Given the description of an element on the screen output the (x, y) to click on. 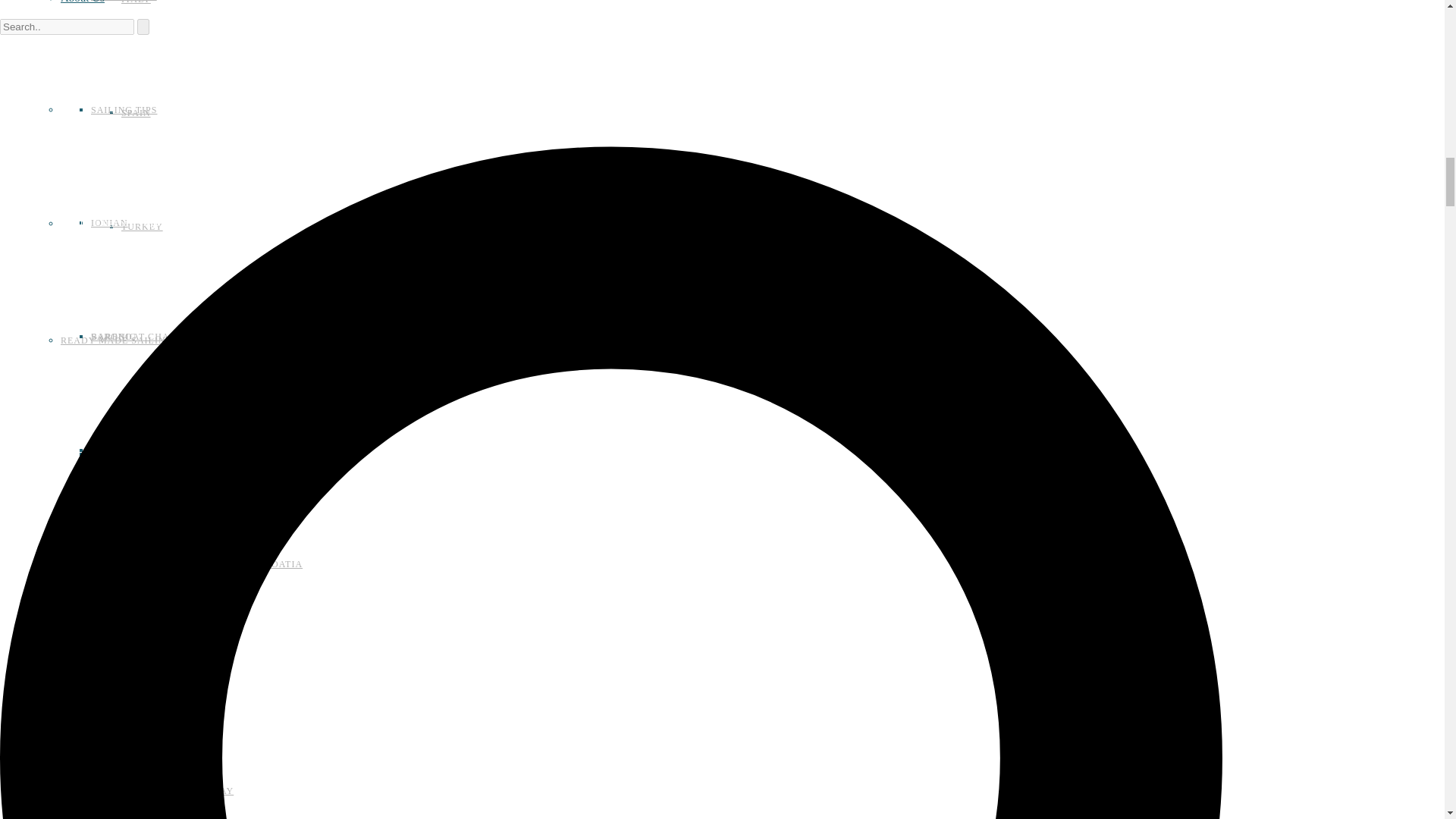
FLOTILLA SAILING HOLIDAY (161, 790)
SARONIC (113, 336)
TURKEY (141, 226)
SICILY (106, 790)
CATAMARAN CHARTERS (150, 450)
LEARN TO SAIL (98, 681)
READY MADE SAILING (117, 339)
READY MADE SAILING (117, 339)
LEARN TO SAIL (128, 795)
ITALY (135, 2)
SPORADES (116, 450)
READY MADE SAILING (146, 567)
SPAIN (135, 112)
LEARN TO SAIL (128, 795)
IONIAN (109, 222)
